Given the description of an element on the screen output the (x, y) to click on. 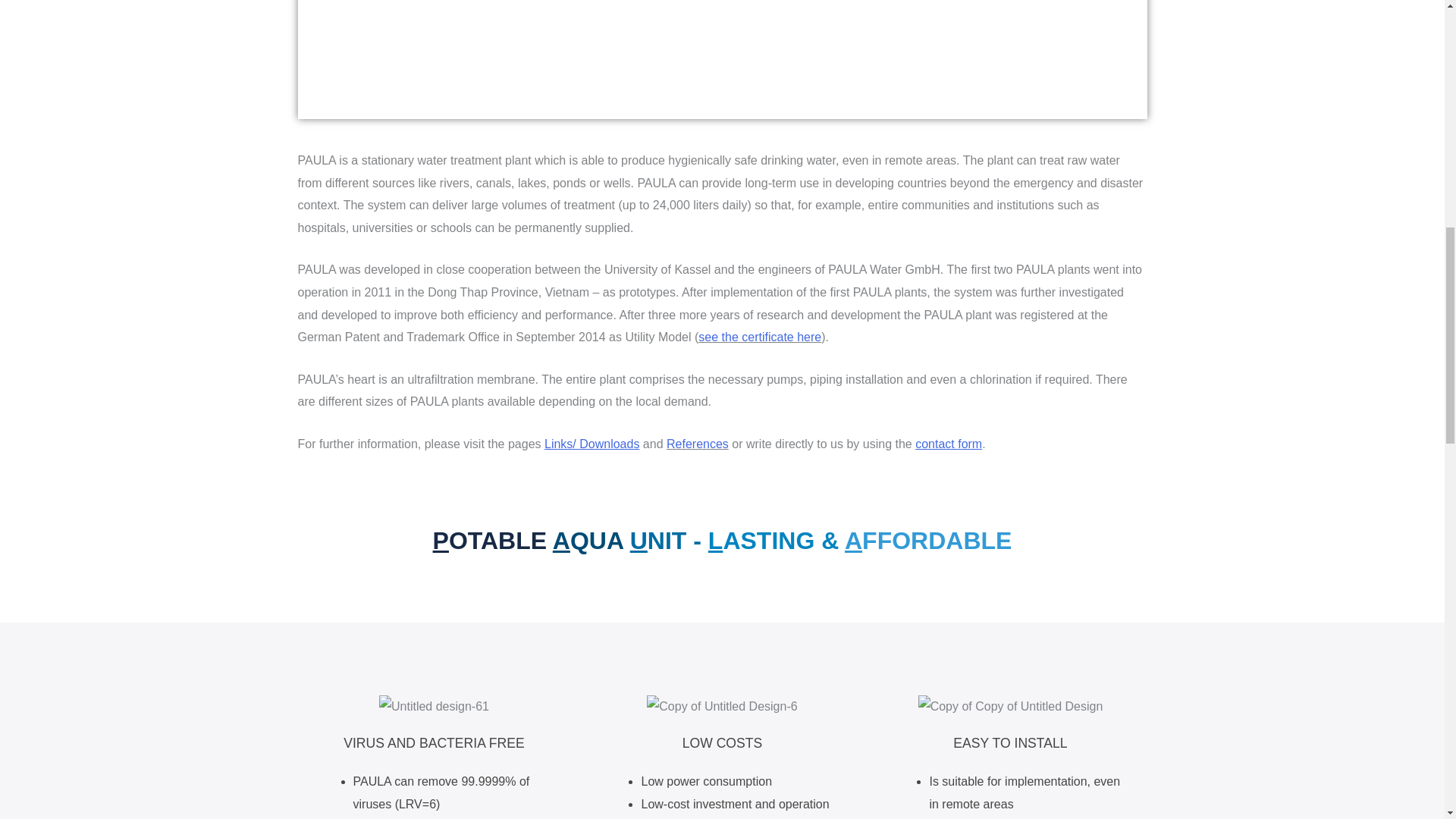
contact form (948, 443)
References (697, 443)
Copy of Copy of Untitled Design (1010, 706)
see the certificate here (759, 336)
Untitled design-61 (433, 706)
Copy of Untitled Design-6 (721, 706)
